Given the description of an element on the screen output the (x, y) to click on. 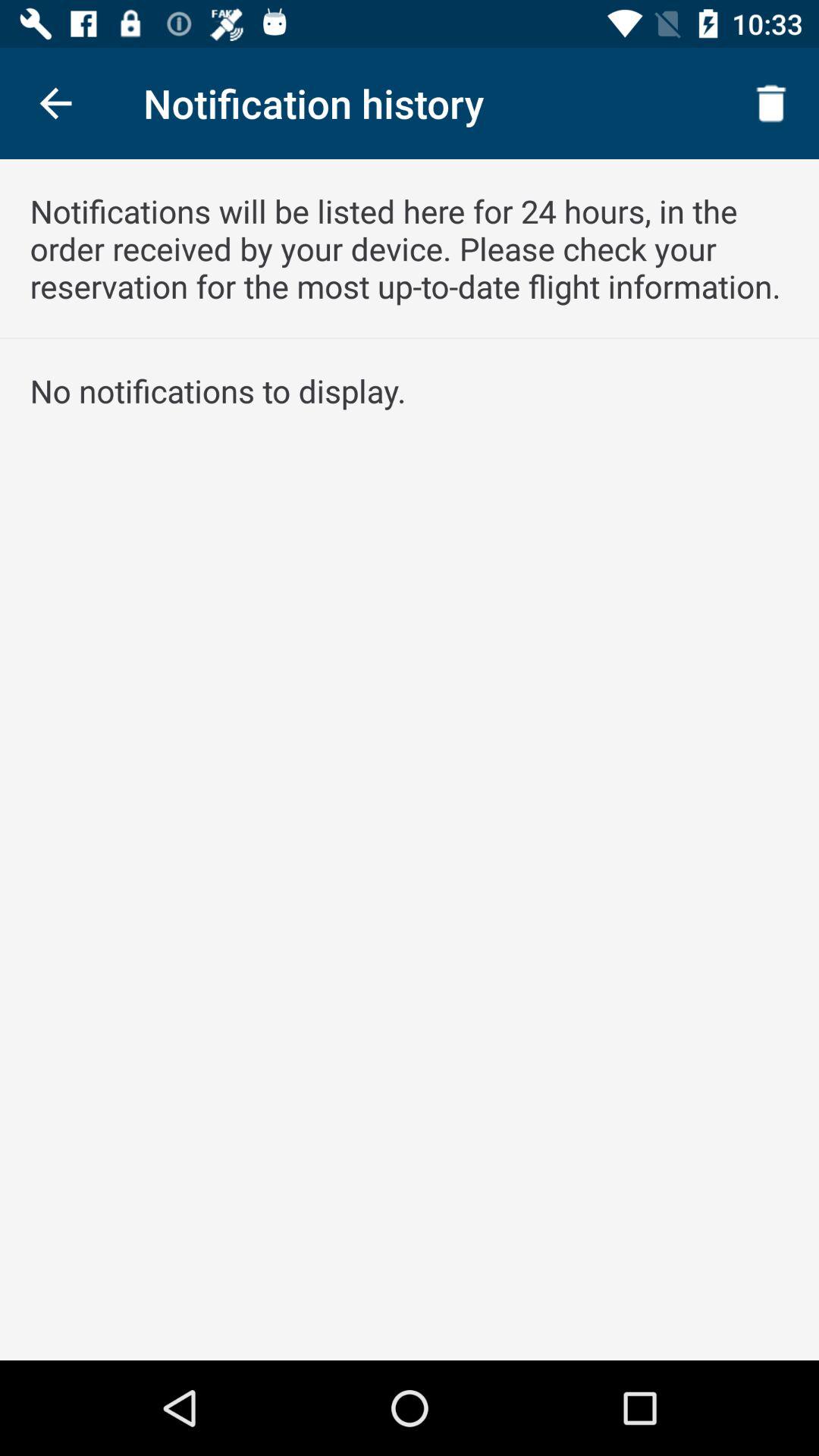
select the item next to notification history icon (55, 103)
